Given the description of an element on the screen output the (x, y) to click on. 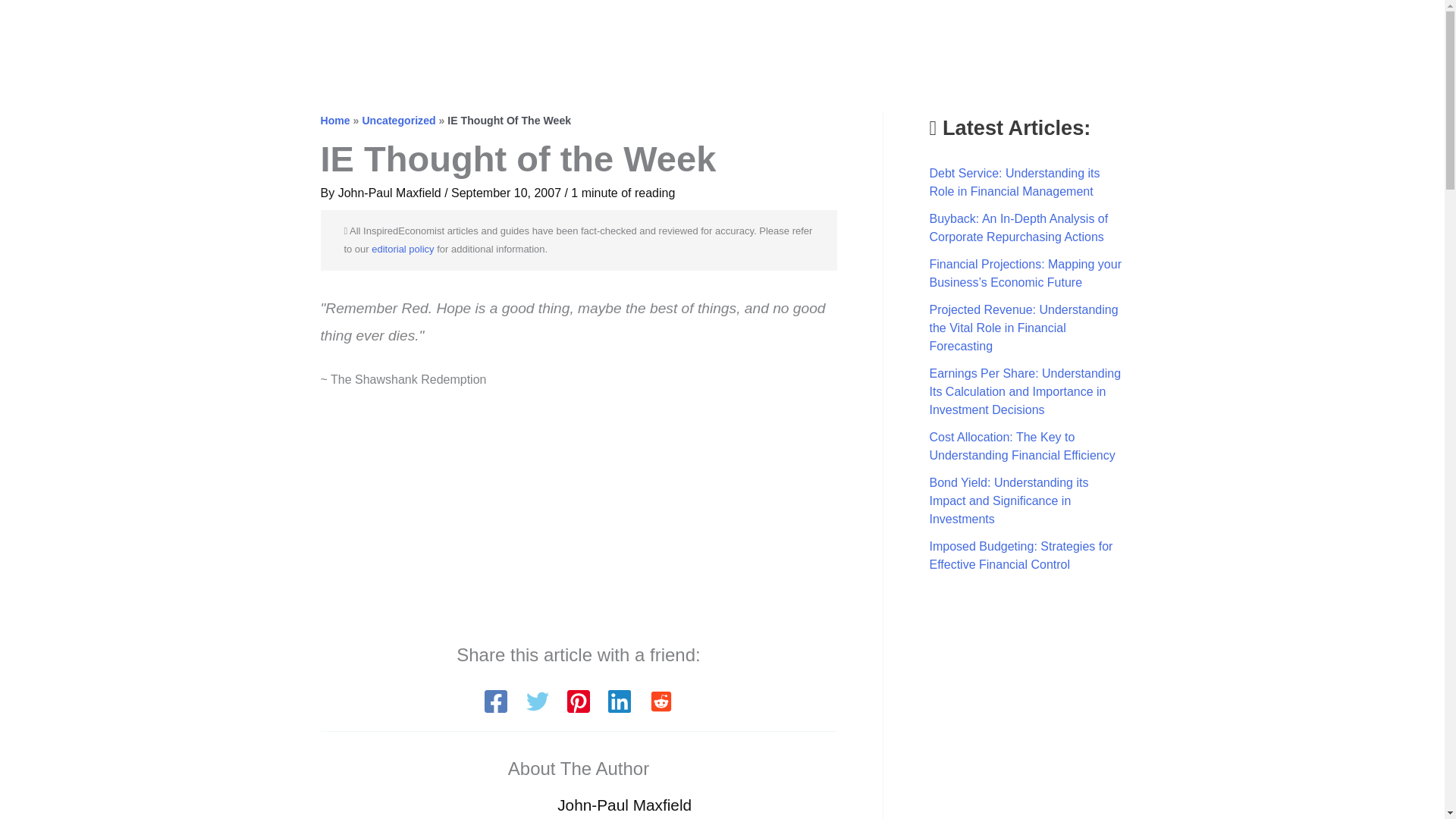
Home (334, 120)
Resources (1354, 31)
editorial policy (402, 248)
CSR (1279, 31)
Advertisement (577, 517)
Uncategorized (398, 120)
John-Paul Maxfield (391, 192)
View all posts by John-Paul Maxfield (391, 192)
Investing (1208, 31)
Finance (1127, 31)
Corporate Social Responsibility (1279, 31)
